Given the description of an element on the screen output the (x, y) to click on. 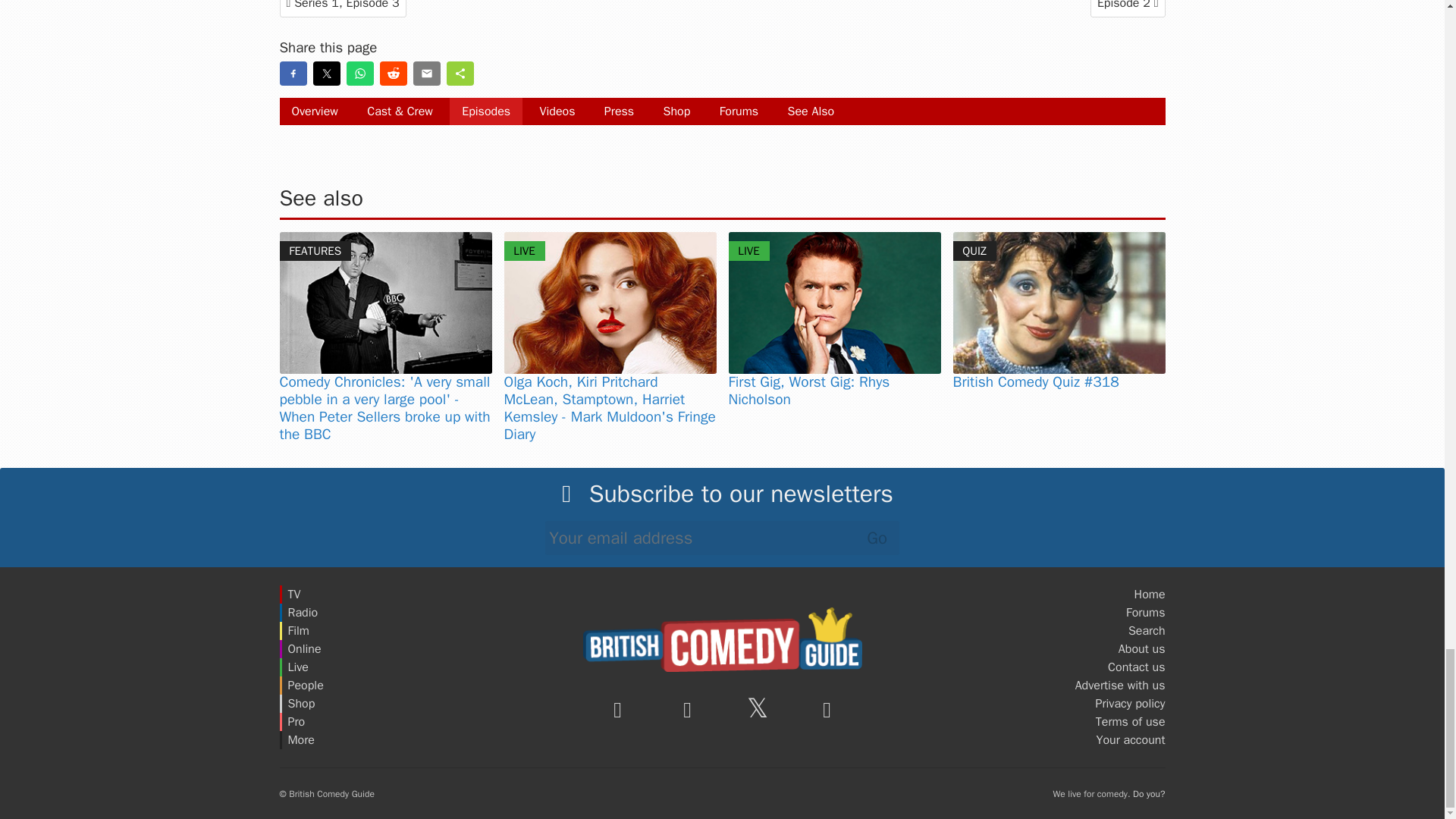
Peter Sellers: A State Of Comic Ecstasy. Peter Sellers (385, 302)
Rhys Nicholson. Credit: Monika Pronk (834, 302)
Hannah Platt (609, 302)
